Given the description of an element on the screen output the (x, y) to click on. 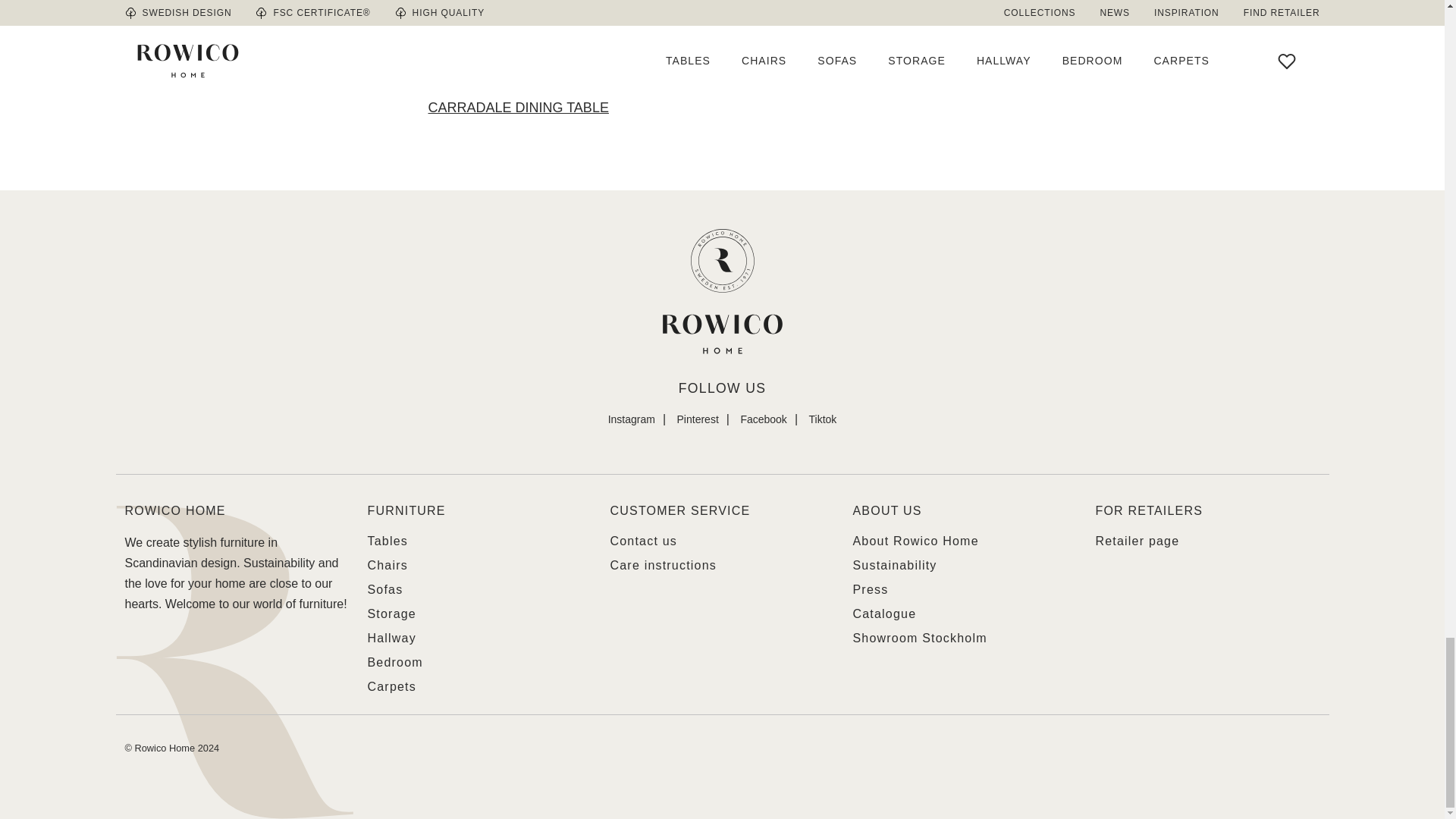
Scroll to top (722, 295)
